Given the description of an element on the screen output the (x, y) to click on. 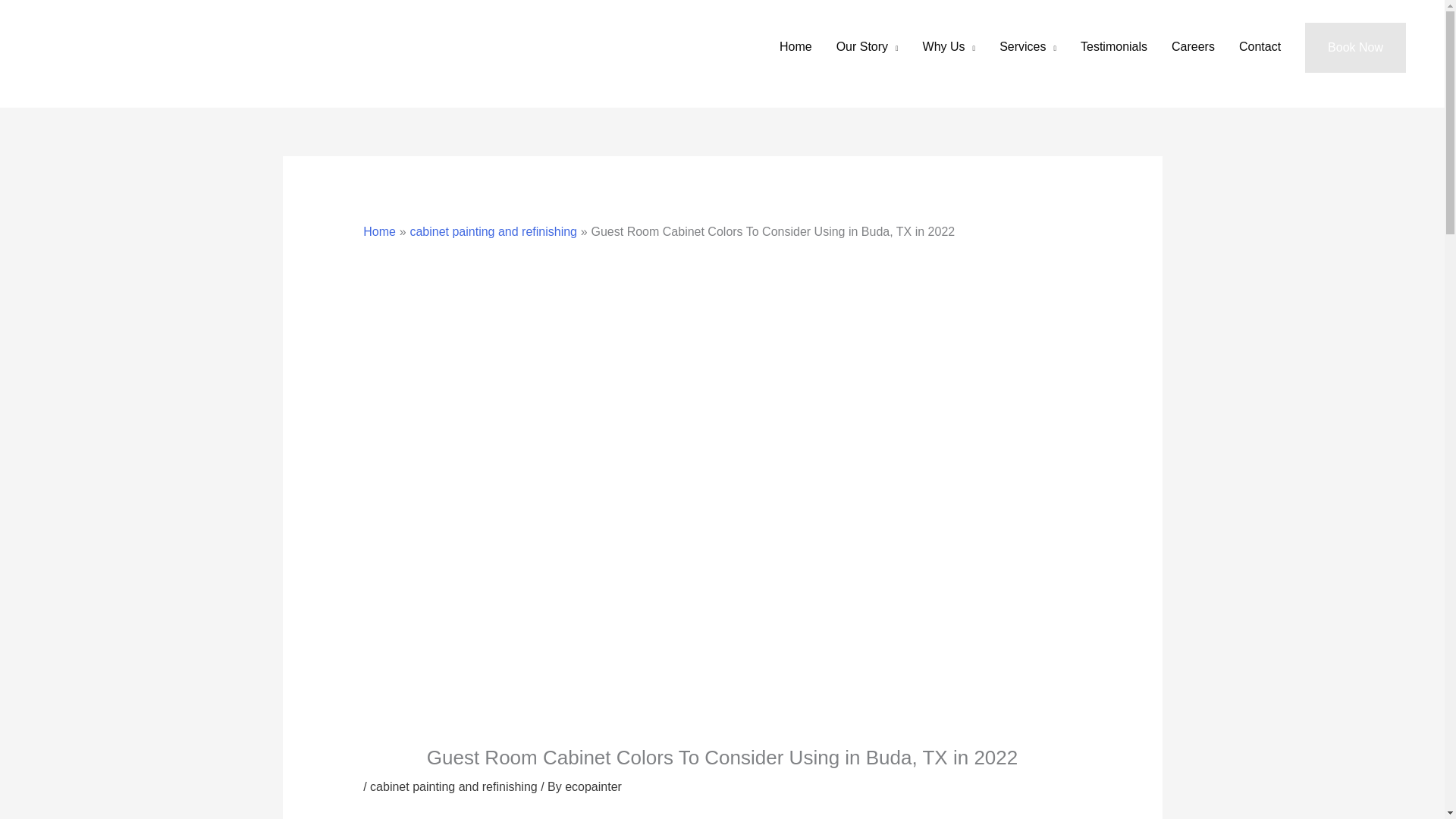
ecopainter (592, 786)
cabinet painting and refinishing (453, 786)
Join Our Team (1192, 46)
Book Now (1355, 47)
Testimonials (1113, 46)
Why Us (949, 46)
Careers (1192, 46)
Our Story (867, 46)
cabinet painting and refinishing (492, 231)
Home (379, 231)
